Given the description of an element on the screen output the (x, y) to click on. 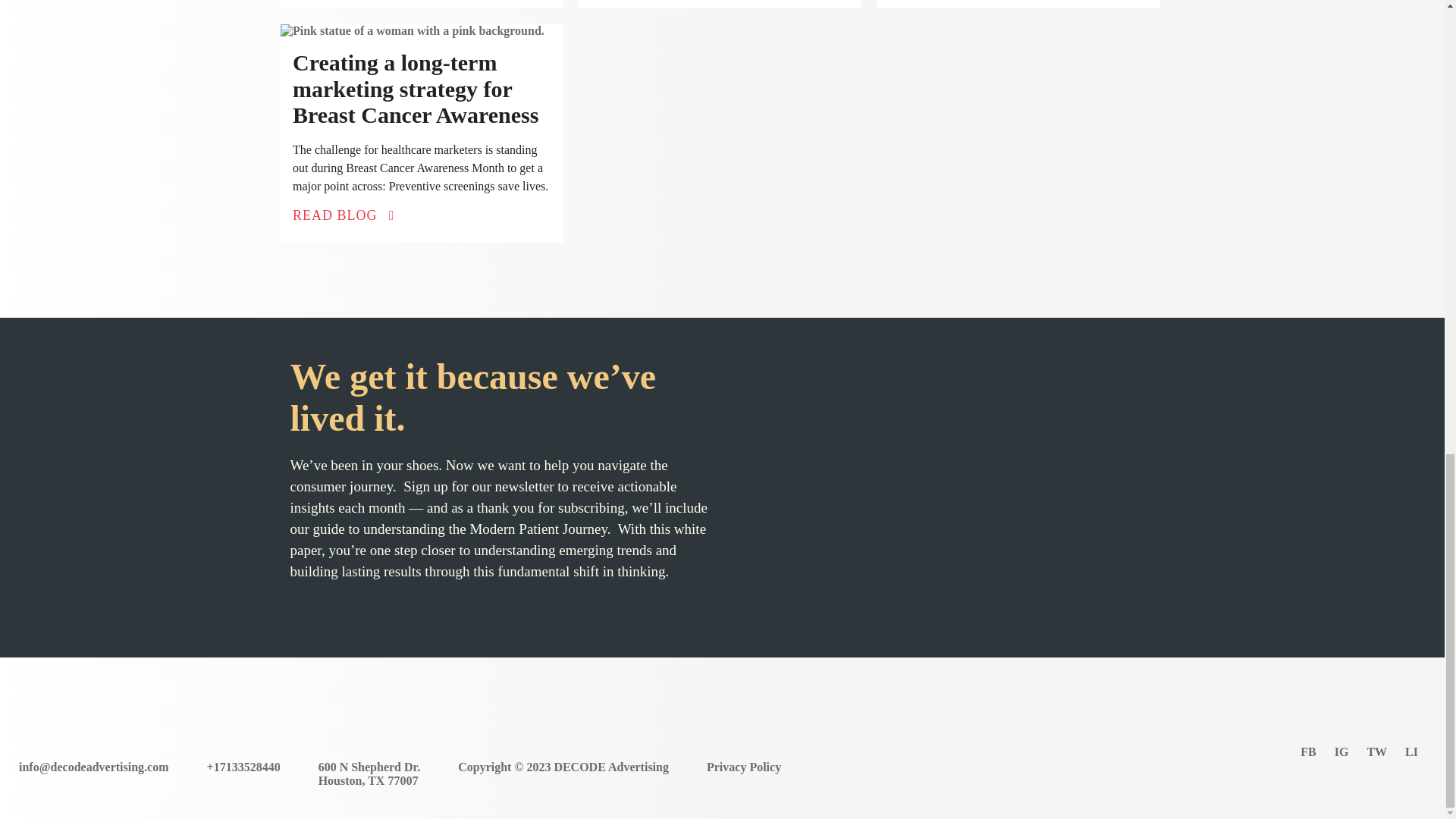
Form 0 (941, 487)
READ BLOG (343, 214)
